Given the description of an element on the screen output the (x, y) to click on. 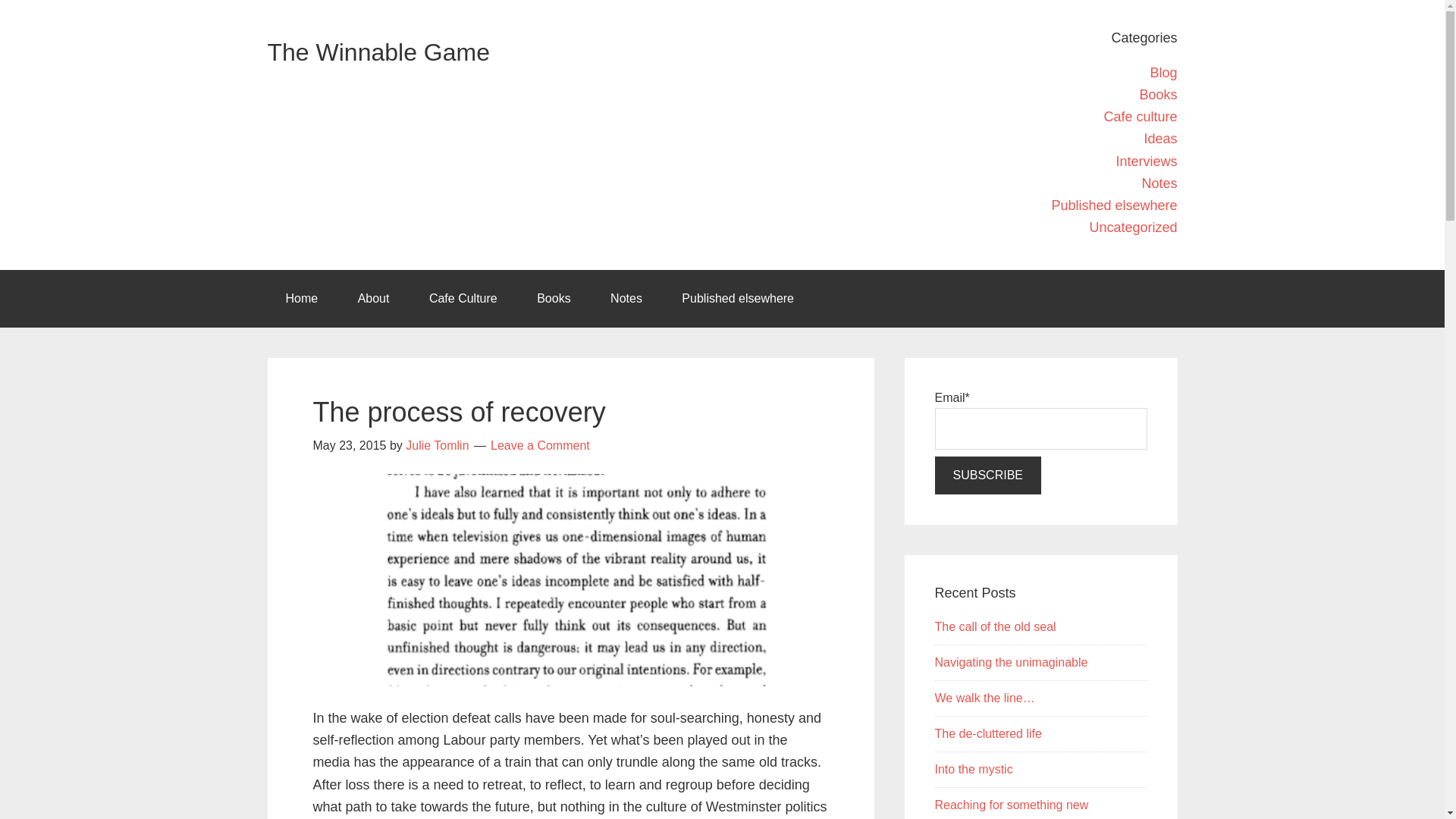
Interviews (1145, 160)
Subscribe (987, 475)
Notes (626, 298)
Into the mystic (972, 768)
Cafe culture (1139, 116)
Julie Tomlin (437, 445)
Ideas (1159, 138)
Subscribe (987, 475)
The de-cluttered life (987, 733)
Cafe Culture (462, 298)
